Given the description of an element on the screen output the (x, y) to click on. 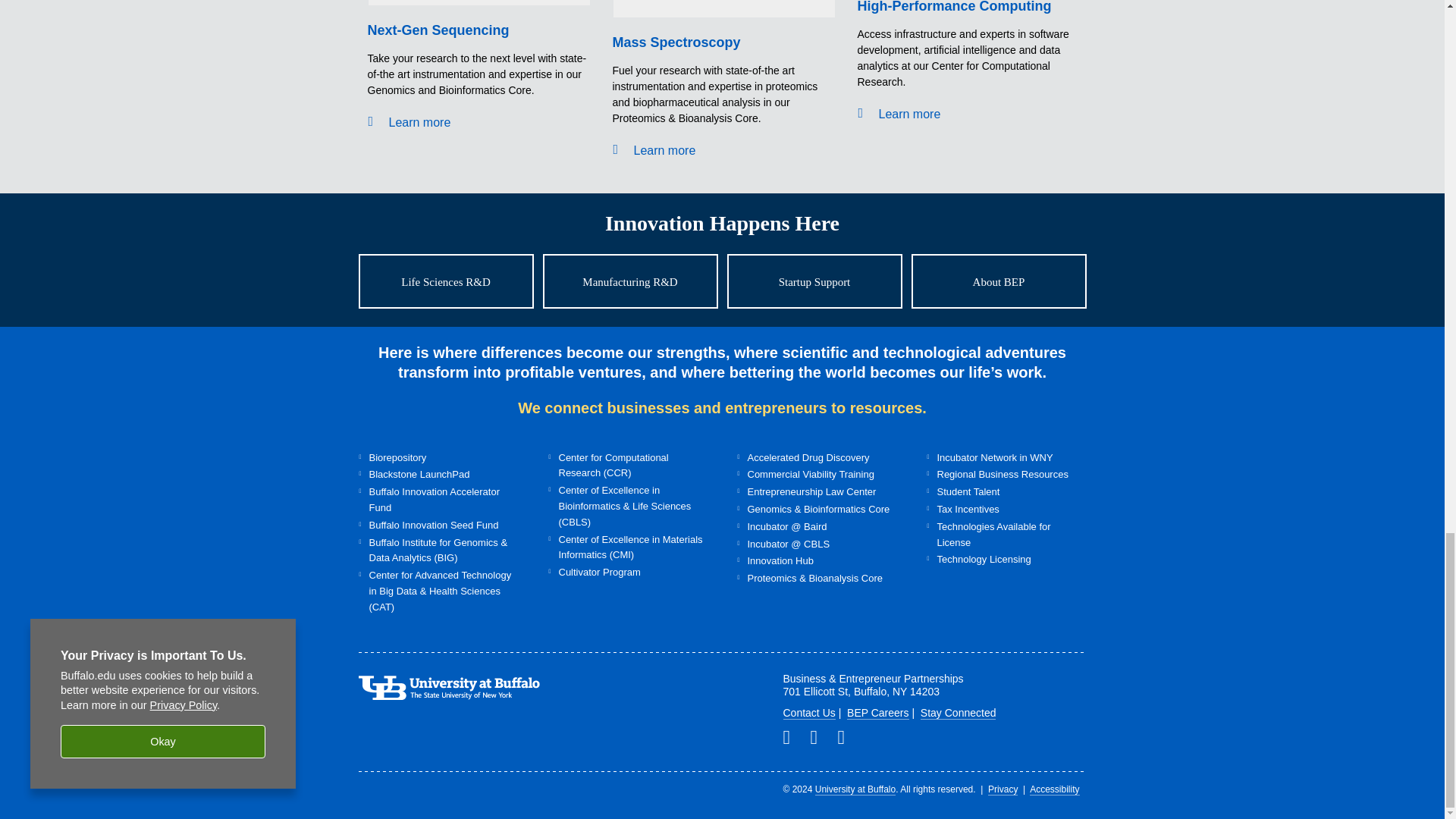
Next-Gen Sequencing (437, 29)
Follow BEP on LinkedIn (792, 736)
Learn more (418, 122)
Follow UB Cultivator on Facebook (819, 736)
Follow UB Cultivator on Instagram (847, 736)
